Given the description of an element on the screen output the (x, y) to click on. 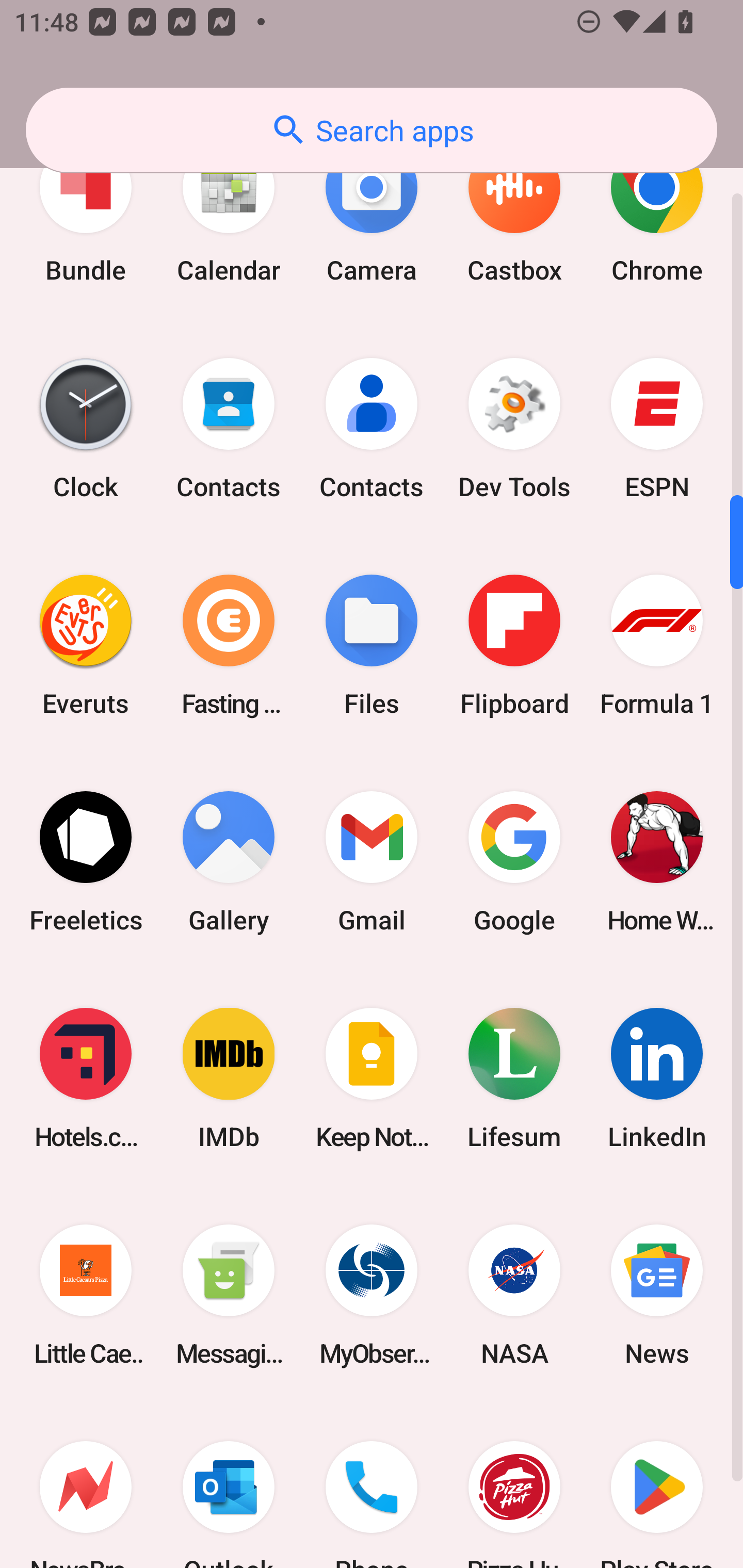
  Search apps (371, 130)
Bundle (85, 211)
Calendar (228, 211)
Camera (371, 211)
Castbox (514, 211)
Chrome (656, 211)
Clock (85, 427)
Contacts (228, 427)
Contacts (371, 427)
Dev Tools (514, 427)
ESPN (656, 427)
Everuts (85, 645)
Fasting Coach (228, 645)
Files (371, 645)
Flipboard (514, 645)
Formula 1 (656, 645)
Freeletics (85, 862)
Gallery (228, 862)
Gmail (371, 862)
Google (514, 862)
Home Workout (656, 862)
Hotels.com (85, 1078)
IMDb (228, 1078)
Keep Notes (371, 1078)
Lifesum (514, 1078)
LinkedIn (656, 1078)
Little Caesars Pizza (85, 1294)
Messaging (228, 1294)
MyObservatory (371, 1294)
NASA (514, 1294)
News (656, 1294)
NewsBreak (85, 1485)
Outlook (228, 1485)
Phone (371, 1485)
Pizza Hut HK & Macau (514, 1485)
Play Store (656, 1485)
